Given the description of an element on the screen output the (x, y) to click on. 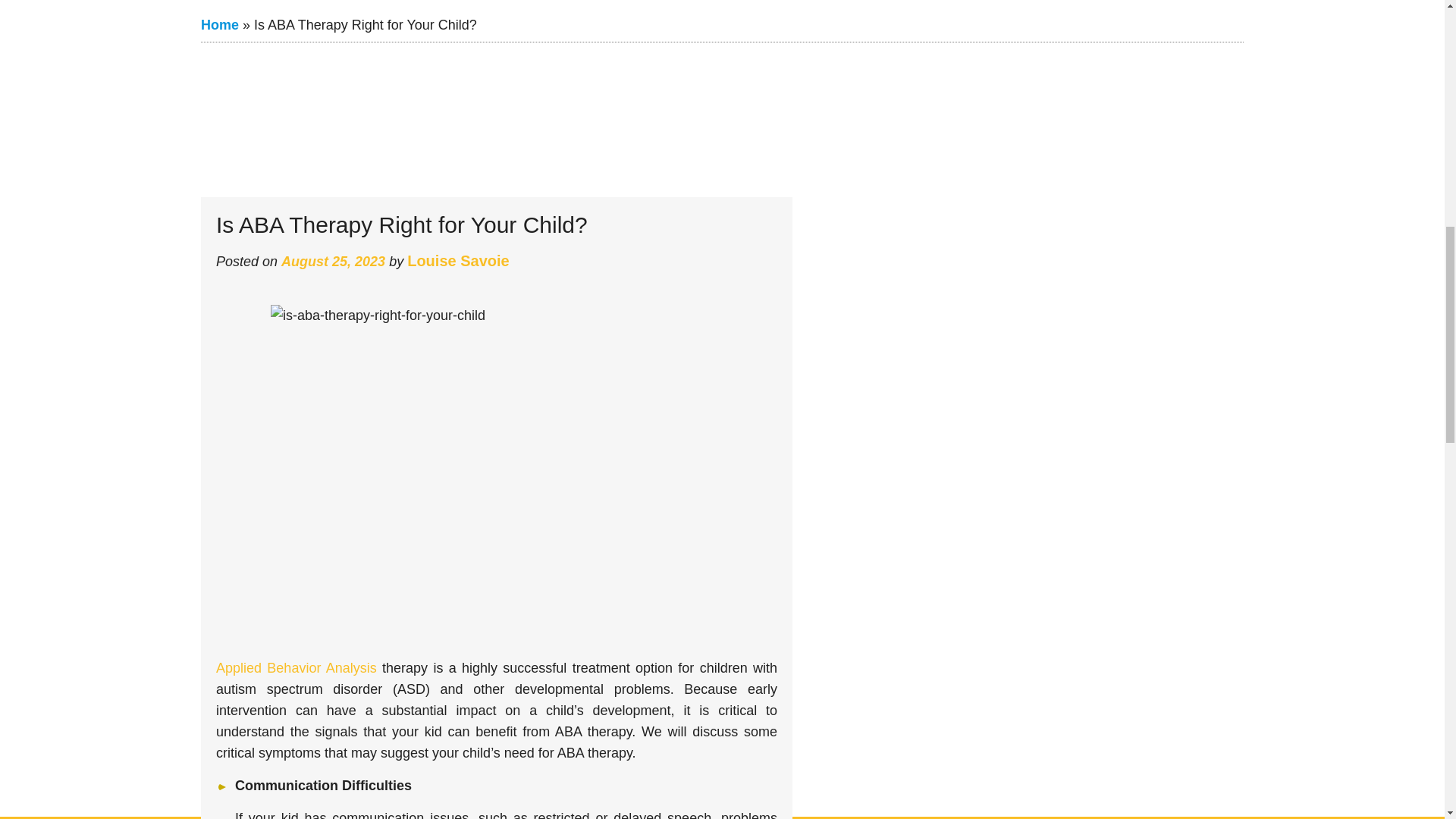
View all posts by Louise Savoie (458, 259)
August 25, 2023 (333, 260)
Louise Savoie (458, 259)
Applied Behavior Analysis (296, 667)
12:00 am (333, 260)
Home (219, 24)
